Given the description of an element on the screen output the (x, y) to click on. 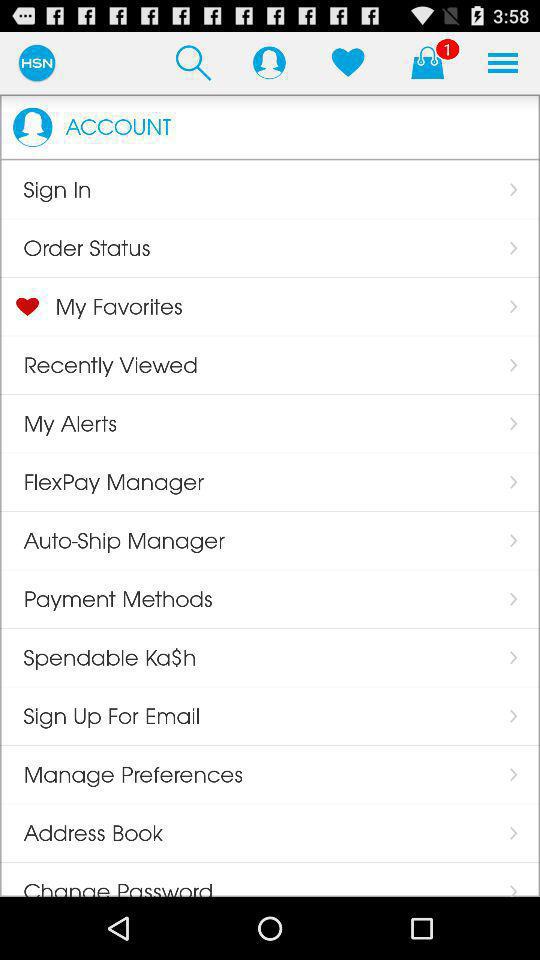
account information (269, 62)
